Given the description of an element on the screen output the (x, y) to click on. 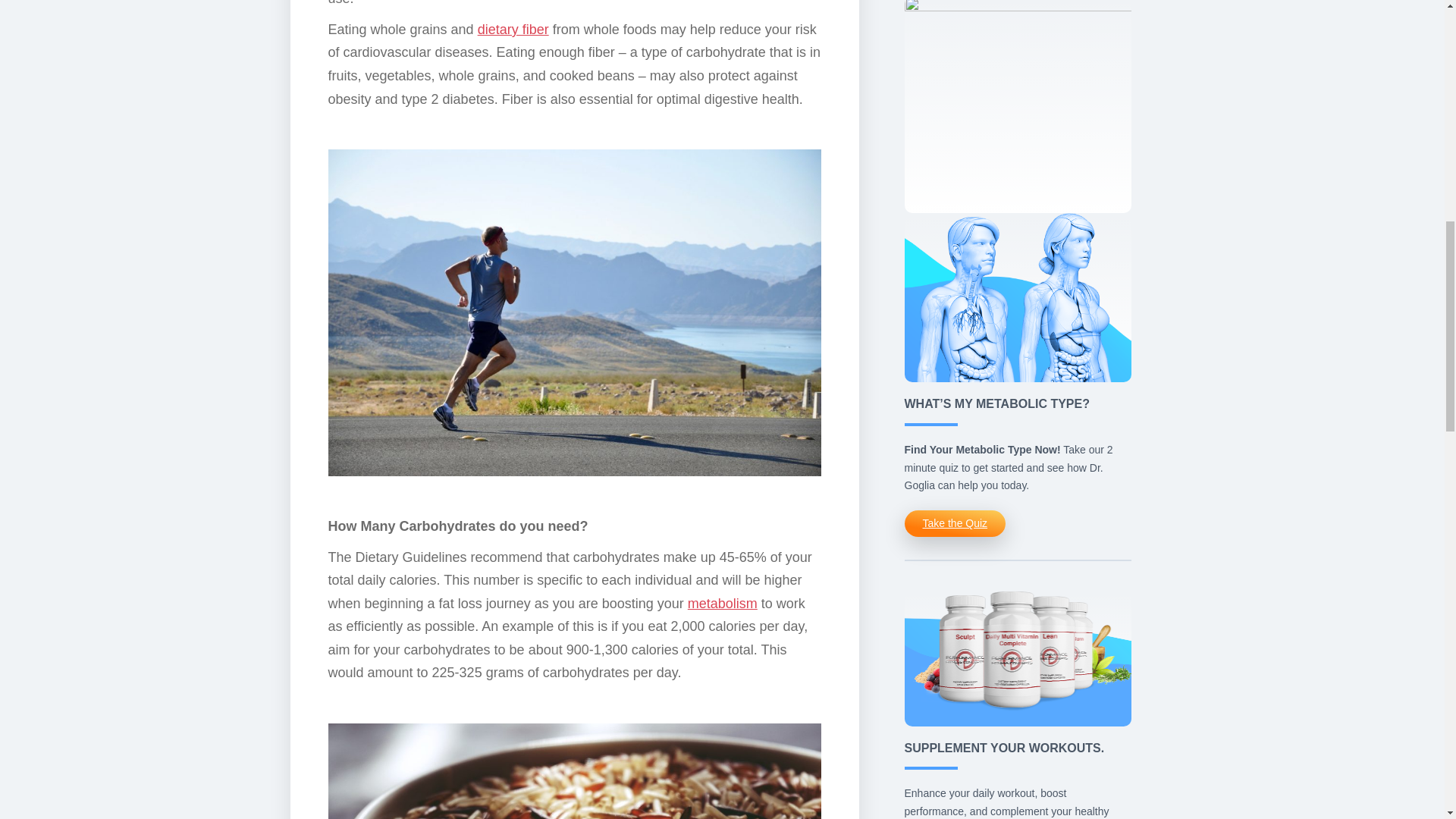
metabolism (722, 603)
dietary fiber (512, 29)
Take the Quiz (955, 523)
